Given the description of an element on the screen output the (x, y) to click on. 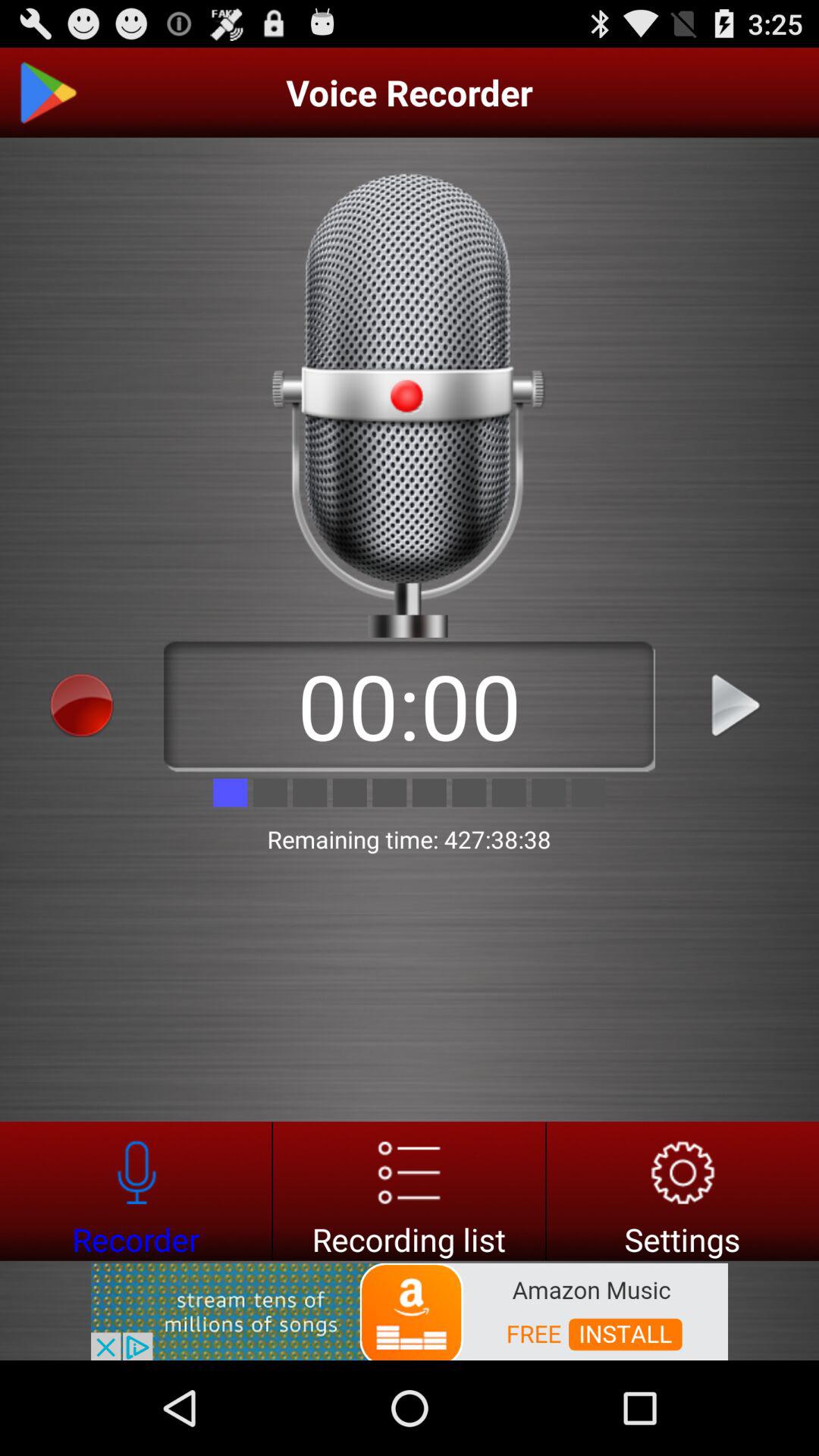
open settings (682, 1190)
